Given the description of an element on the screen output the (x, y) to click on. 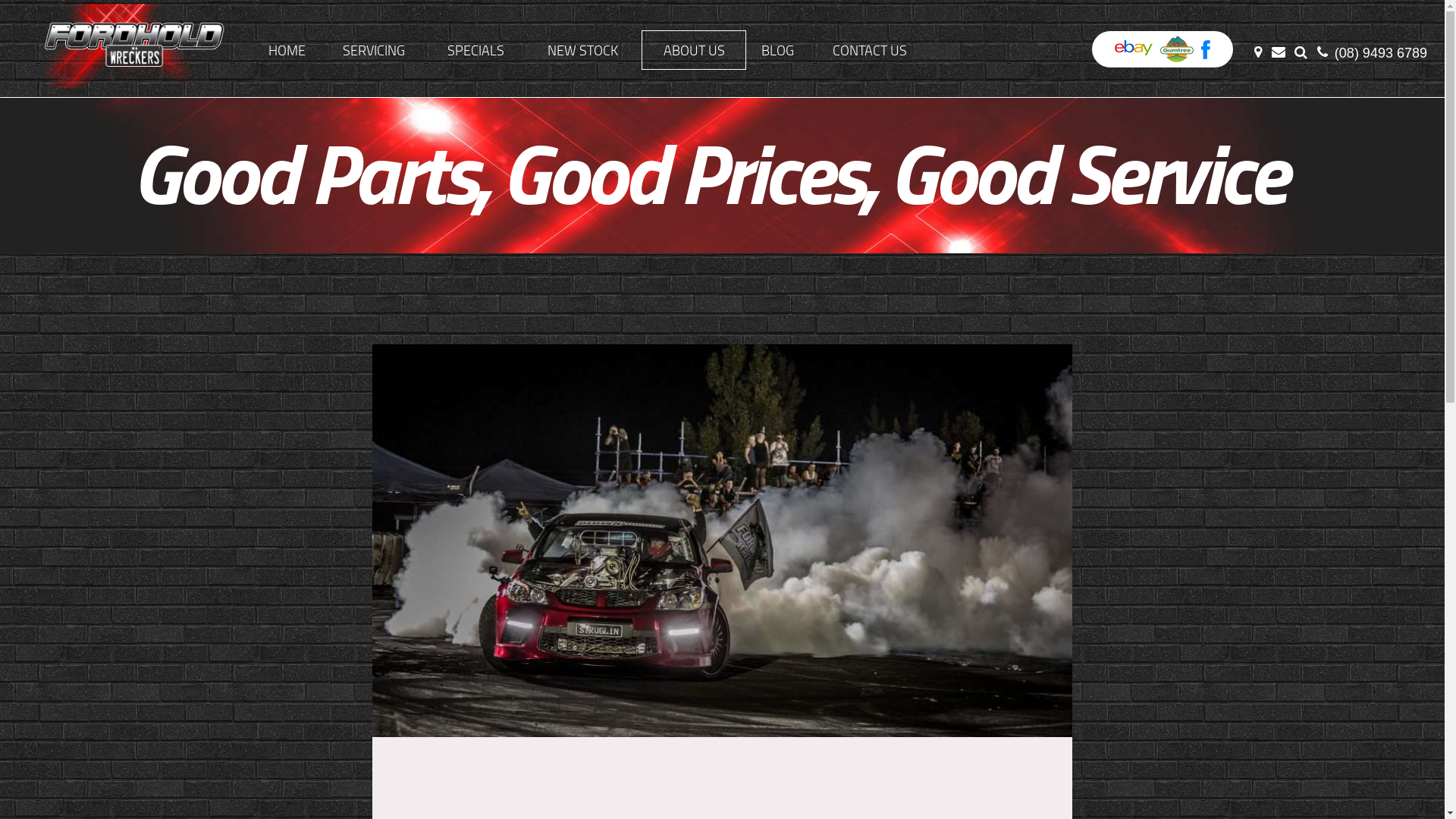
SPECIALS Element type: text (475, 49)
http://bit.ly/2dtjy00 Element type: text (1176, 49)
HOME Element type: text (285, 49)
ABOUT US
(CURRENT) Element type: text (693, 49)
https://www.facebook.com/fordhold Element type: text (1205, 49)
http://bit.ly/2dtjy00 Element type: text (1133, 49)
NEW STOCK Element type: text (582, 49)
BLOG Element type: text (777, 49)
(08) 9493 6789 Element type: text (1373, 52)
SERVICING Element type: text (373, 49)
CONTACT US Element type: text (869, 49)
Fordhold Wreckers Element type: hover (125, 45)
